Given the description of an element on the screen output the (x, y) to click on. 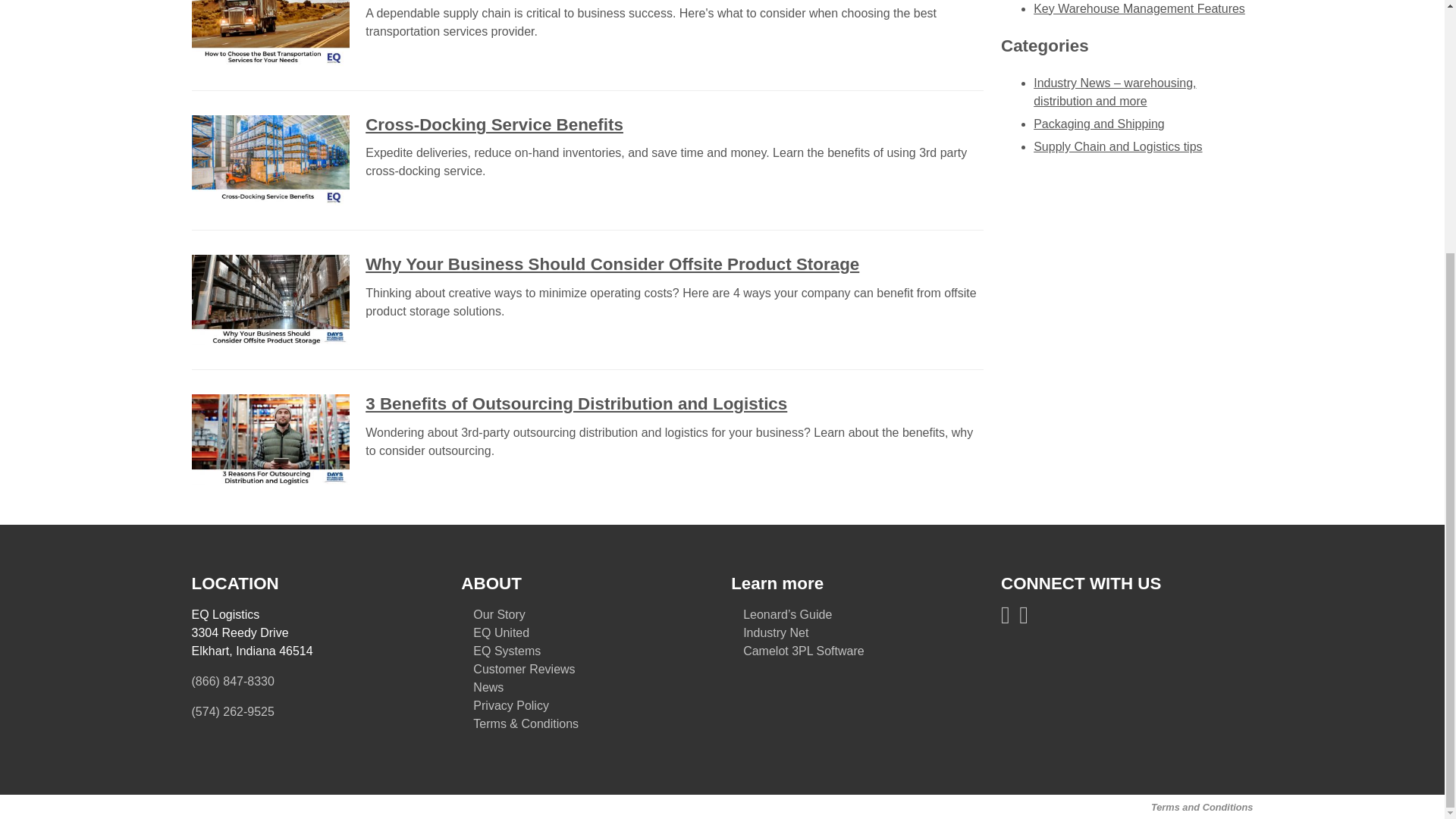
Customer Reviews (524, 668)
Supply Chain and Logistics tips (1117, 146)
News (488, 686)
EQ Systems (506, 650)
Key Warehouse Management Features (1138, 8)
Privacy Policy (510, 705)
Cross-Docking Service Benefits (494, 124)
Packaging and Shipping (1098, 123)
Our Story (498, 614)
3 Benefits of Outsourcing Distribution and Logistics (576, 403)
